Given the description of an element on the screen output the (x, y) to click on. 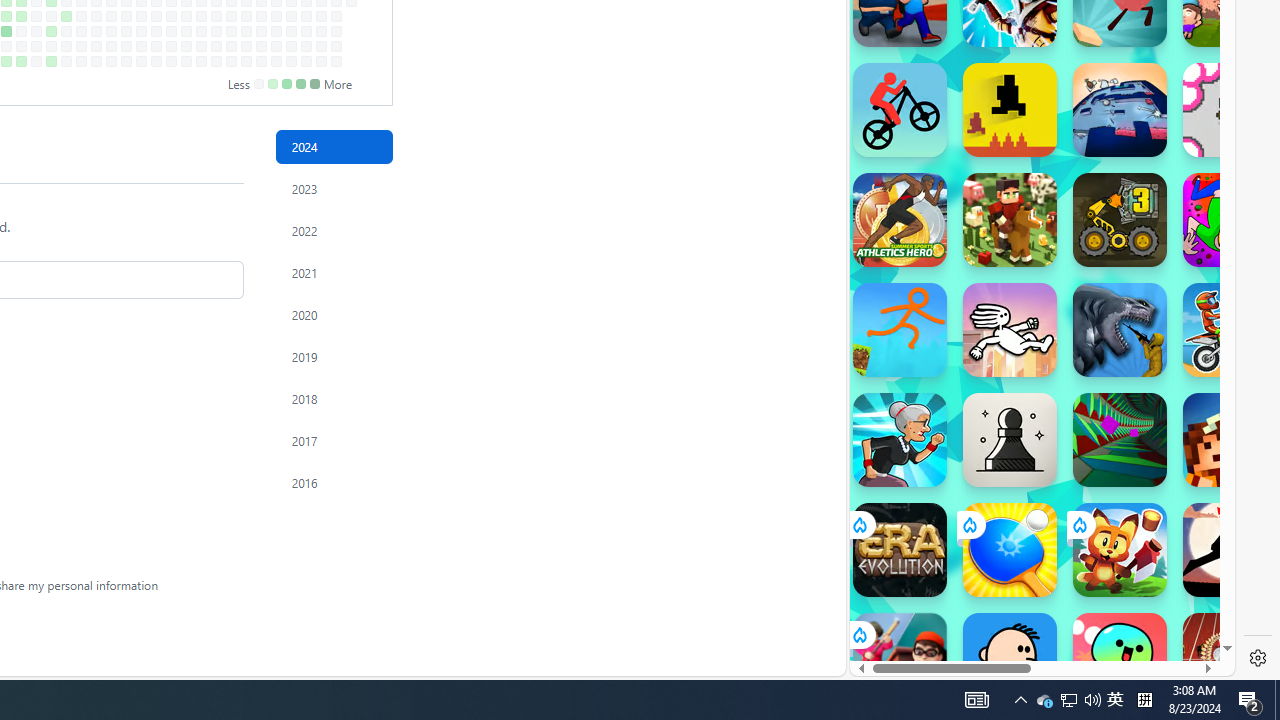
No contributions on September 20th. (126, 46)
2016 (333, 482)
School Escape! School Escape! (899, 659)
Contribution activity in 2017 (333, 440)
No contributions on November 6th. (231, 16)
No contributions on December 4th. (290, 16)
No contributions on October 24th. (201, 30)
No contributions on November 7th. (231, 30)
Hills of Steel (943, 300)
No contributions on December 27th. (336, 46)
No contributions on August 22nd. (66, 30)
Angry Gran Run (899, 439)
No contributions on September 6th. (96, 46)
Poki (1034, 606)
